Given the description of an element on the screen output the (x, y) to click on. 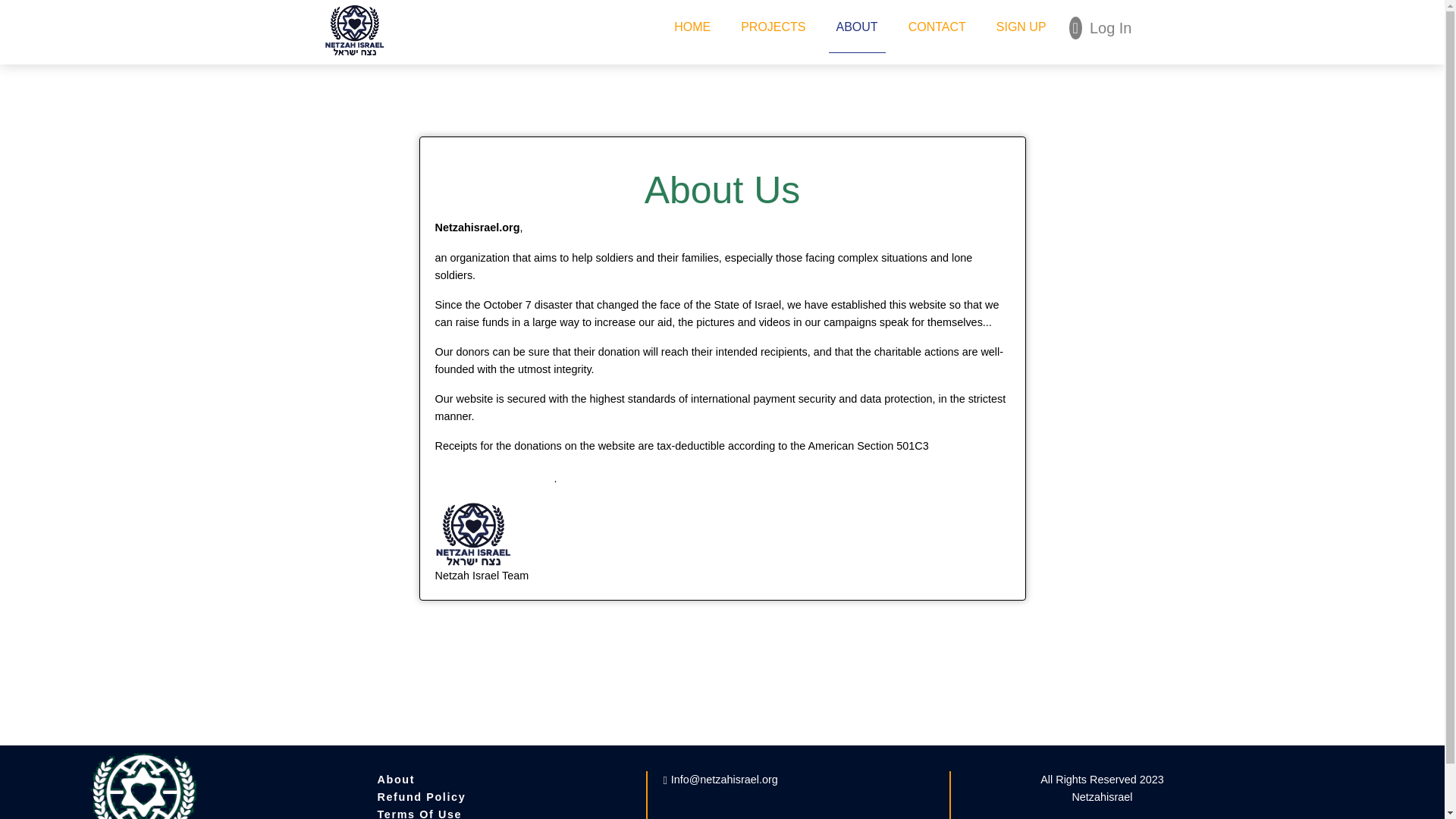
Refund Policy (421, 797)
contact us here (494, 477)
Log In (1100, 28)
About (395, 779)
CONTACT (937, 34)
Terms Of Use (419, 813)
SIGN UP (1021, 34)
ABOUT (856, 34)
Log In (1100, 27)
